Given the description of an element on the screen output the (x, y) to click on. 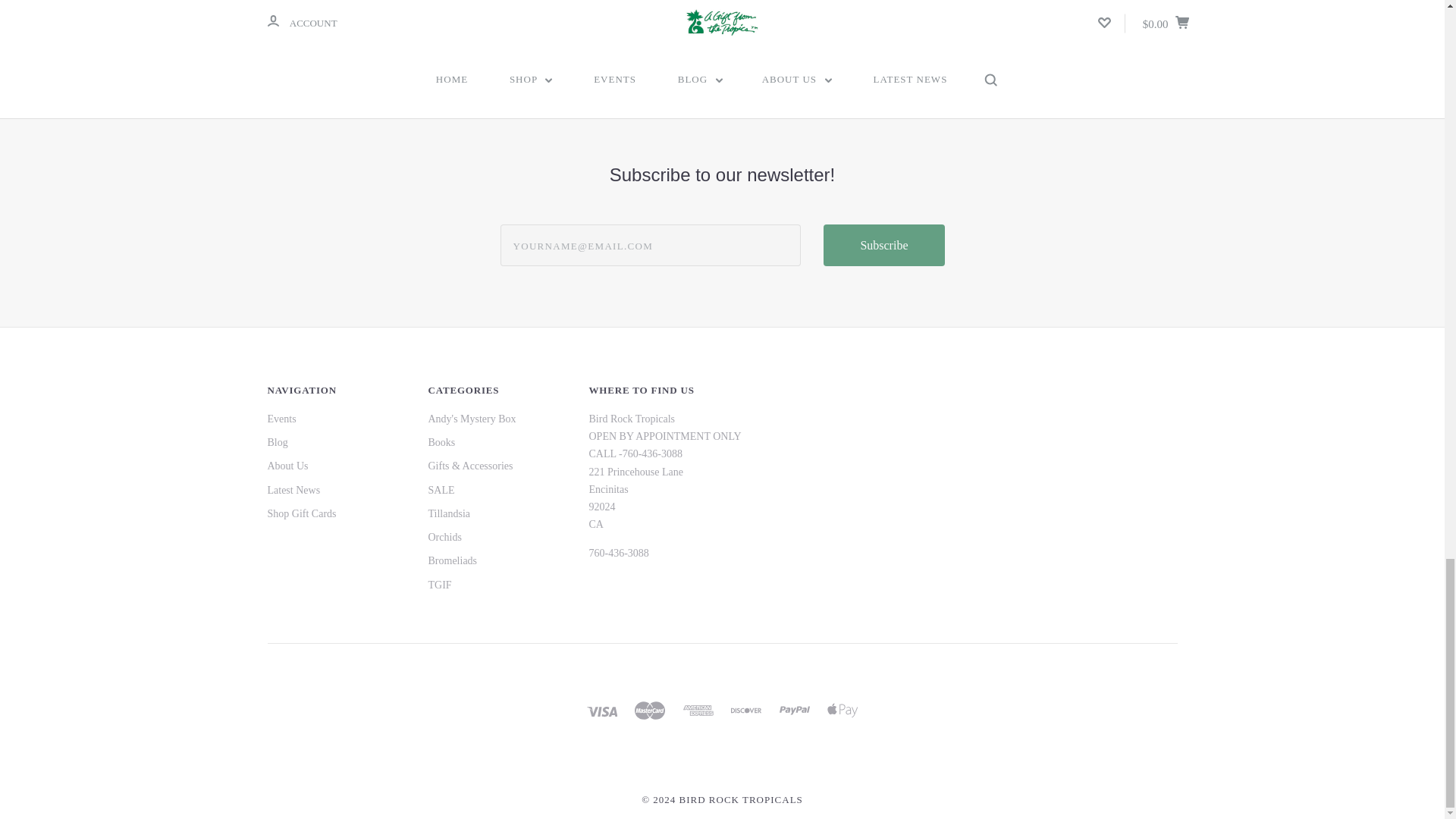
Subscribe (883, 245)
